Given the description of an element on the screen output the (x, y) to click on. 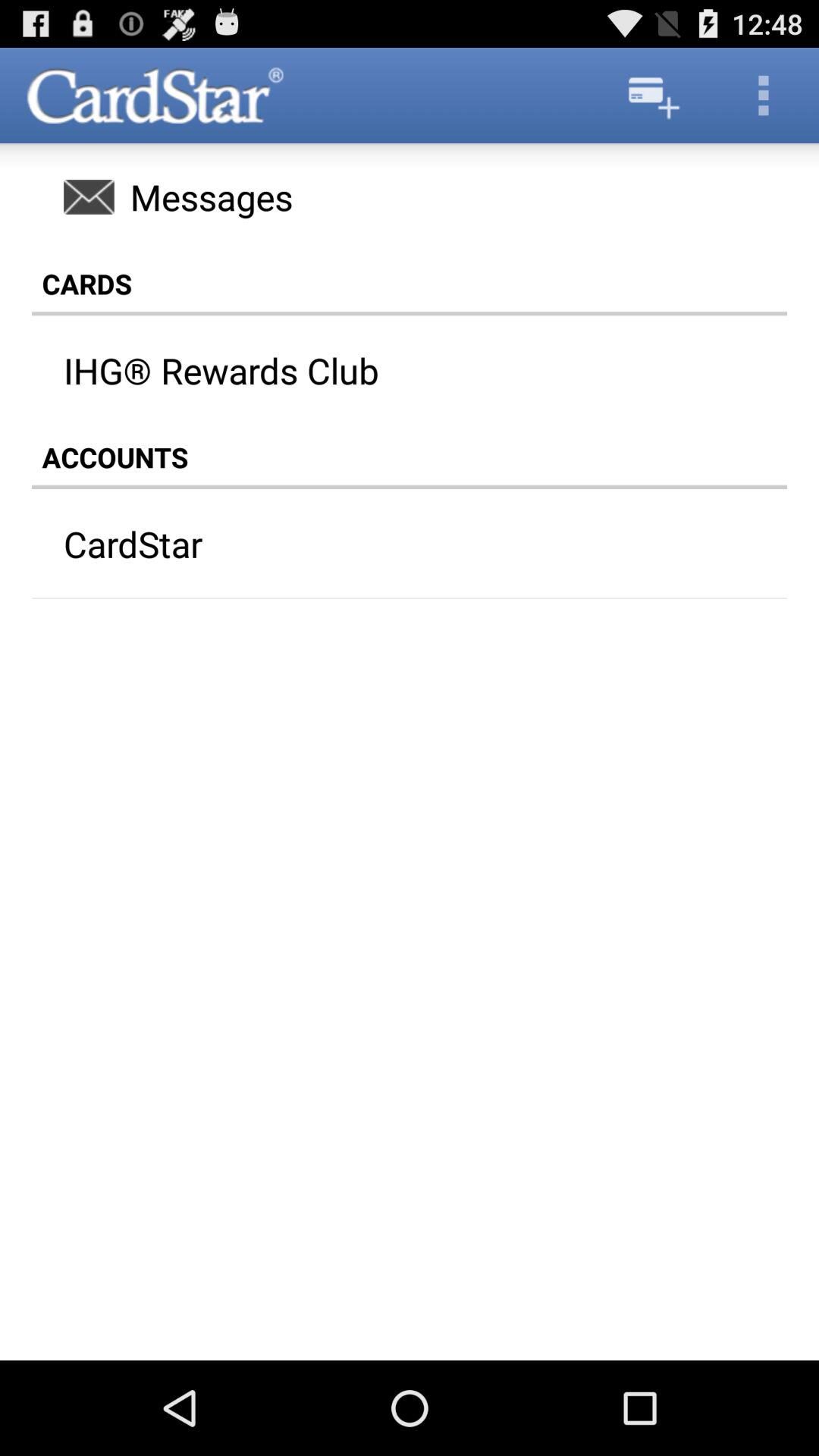
jump to the messages icon (409, 196)
